Given the description of an element on the screen output the (x, y) to click on. 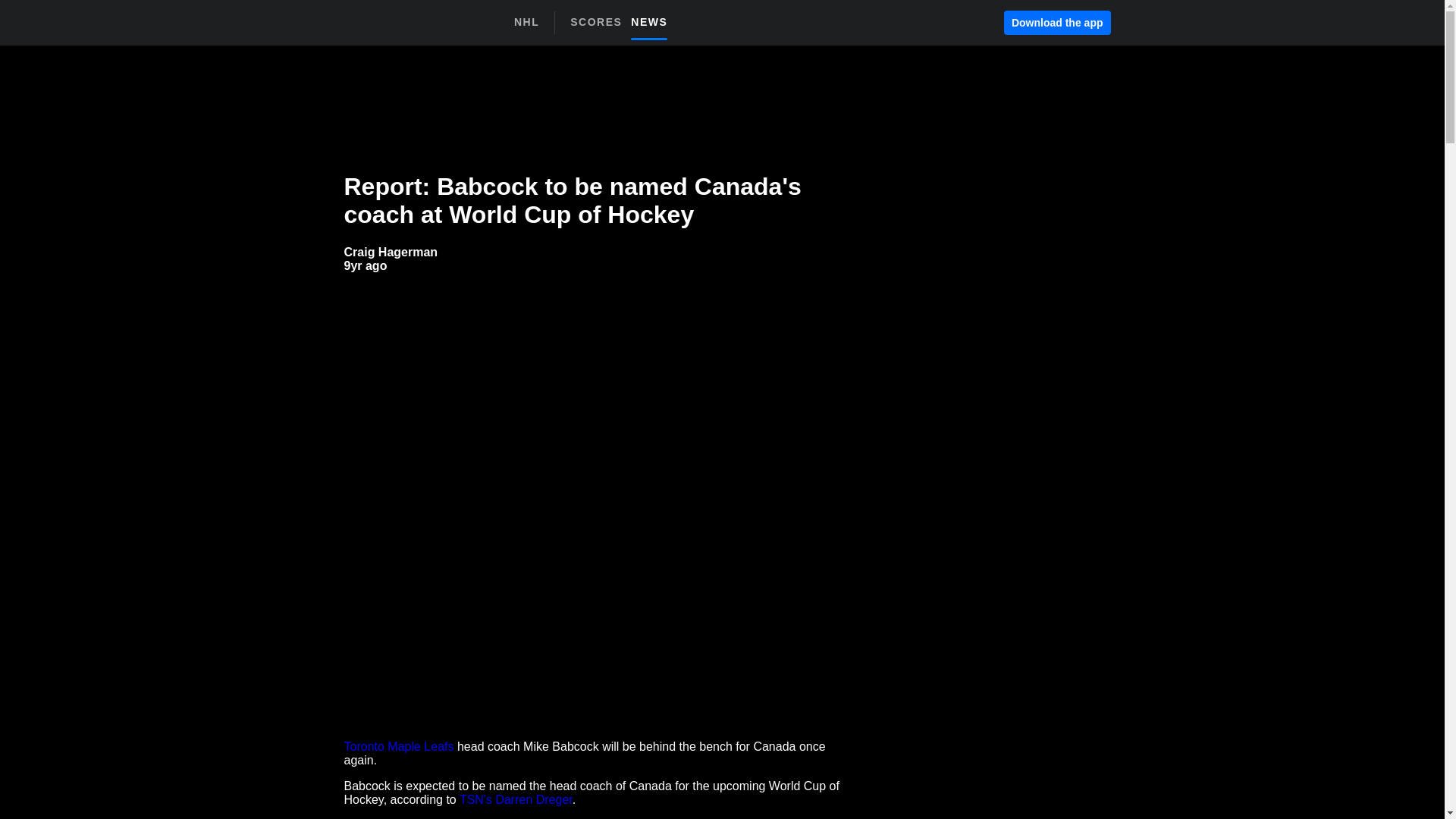
Download the app (623, 26)
2015-11-03T16:19:54.000Z (1057, 22)
Toronto Maple Leafs (365, 265)
SCORES (398, 746)
NHL (600, 21)
TSN's Darren Dreger (525, 22)
Craig Hagerman (516, 799)
NEWS (390, 251)
